Given the description of an element on the screen output the (x, y) to click on. 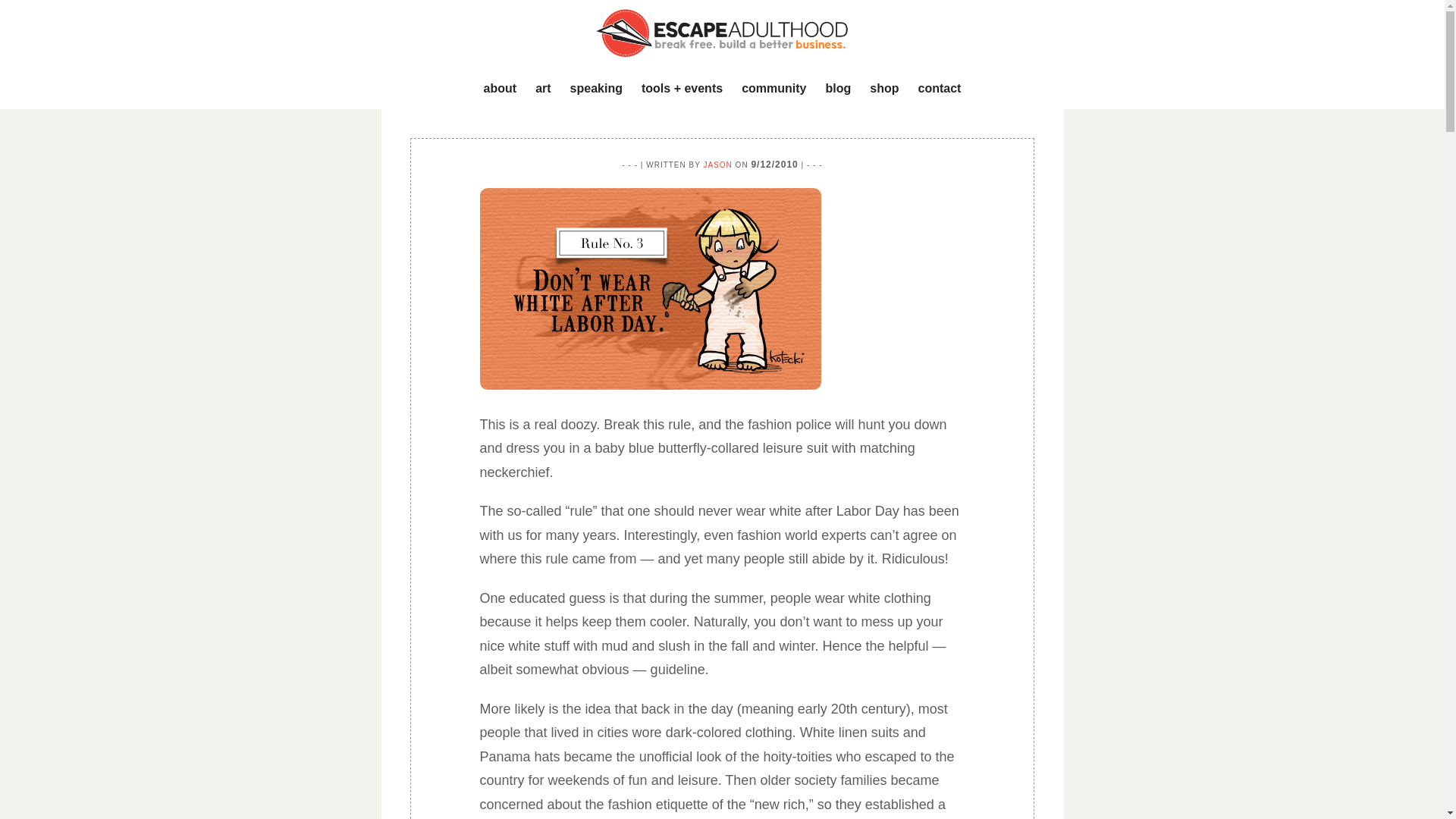
community (773, 88)
blog (837, 88)
speaking (596, 88)
art (542, 88)
about (500, 88)
ESCAPE ADULTHOOD (721, 32)
